Given the description of an element on the screen output the (x, y) to click on. 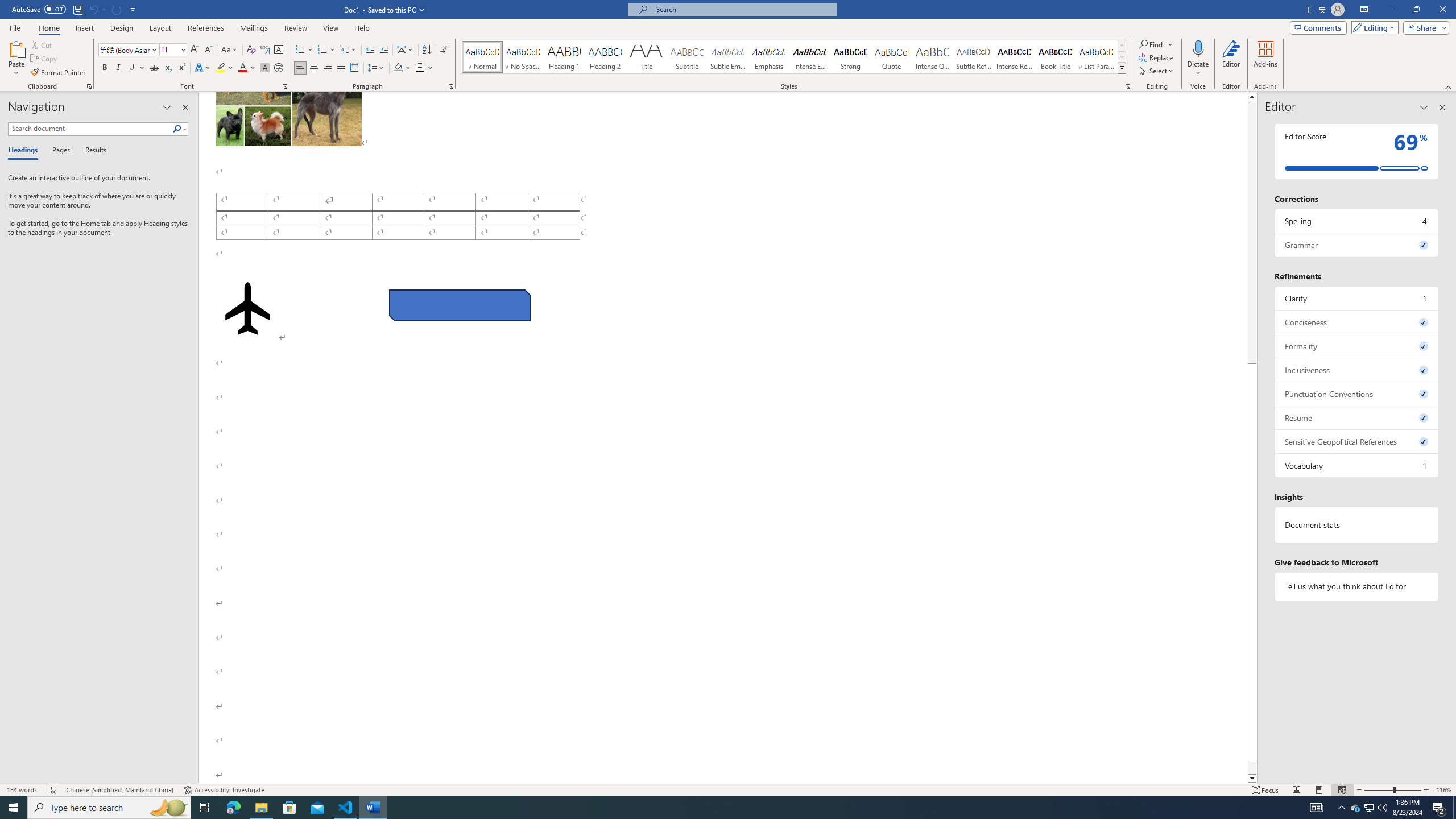
Editor Score 69% (1356, 151)
